Given the description of an element on the screen output the (x, y) to click on. 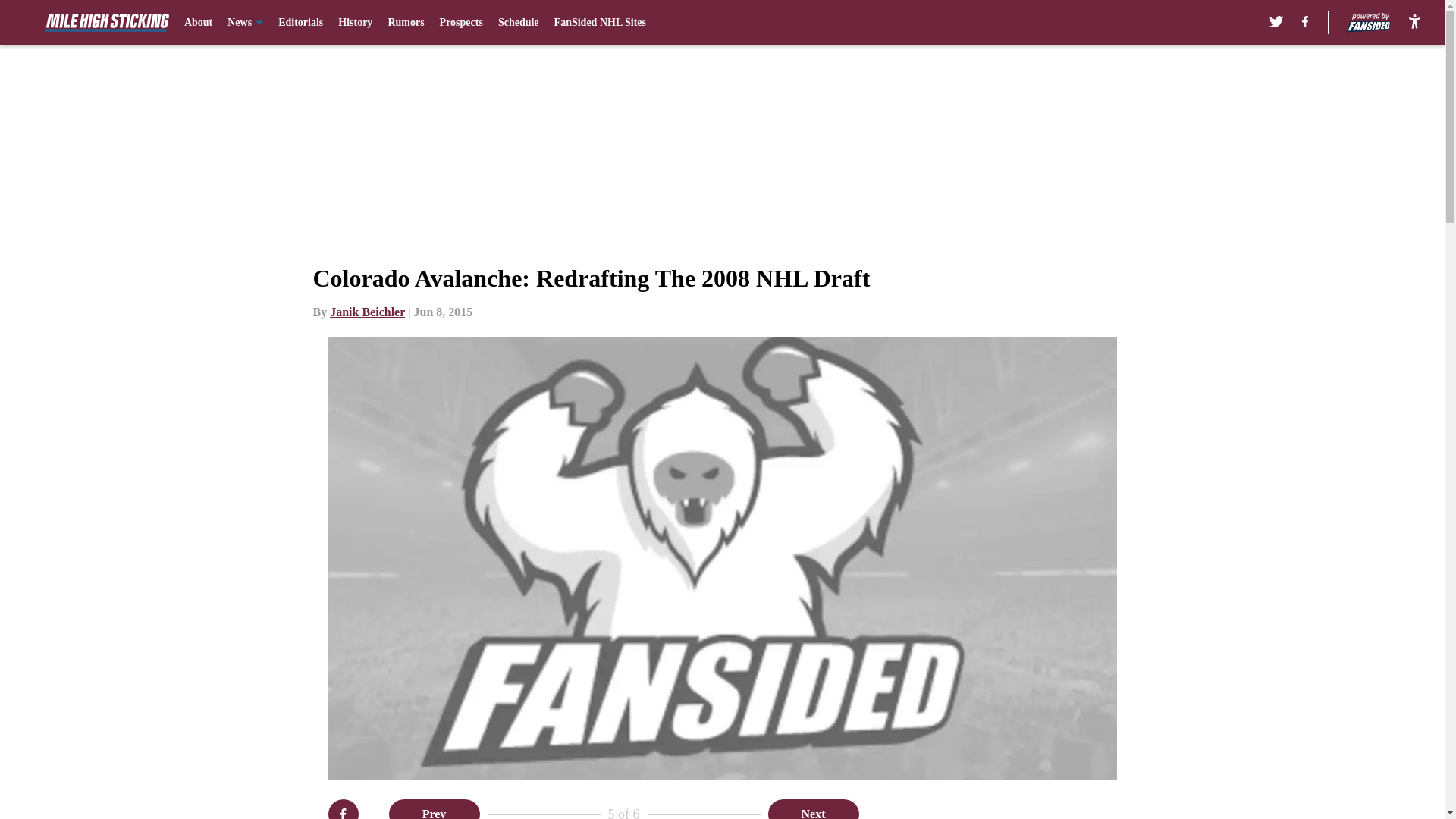
Janik Beichler (367, 311)
About (198, 22)
Schedule (517, 22)
Editorials (300, 22)
FanSided NHL Sites (600, 22)
Rumors (405, 22)
Prev (433, 809)
History (354, 22)
Next (813, 809)
Prospects (461, 22)
